Given the description of an element on the screen output the (x, y) to click on. 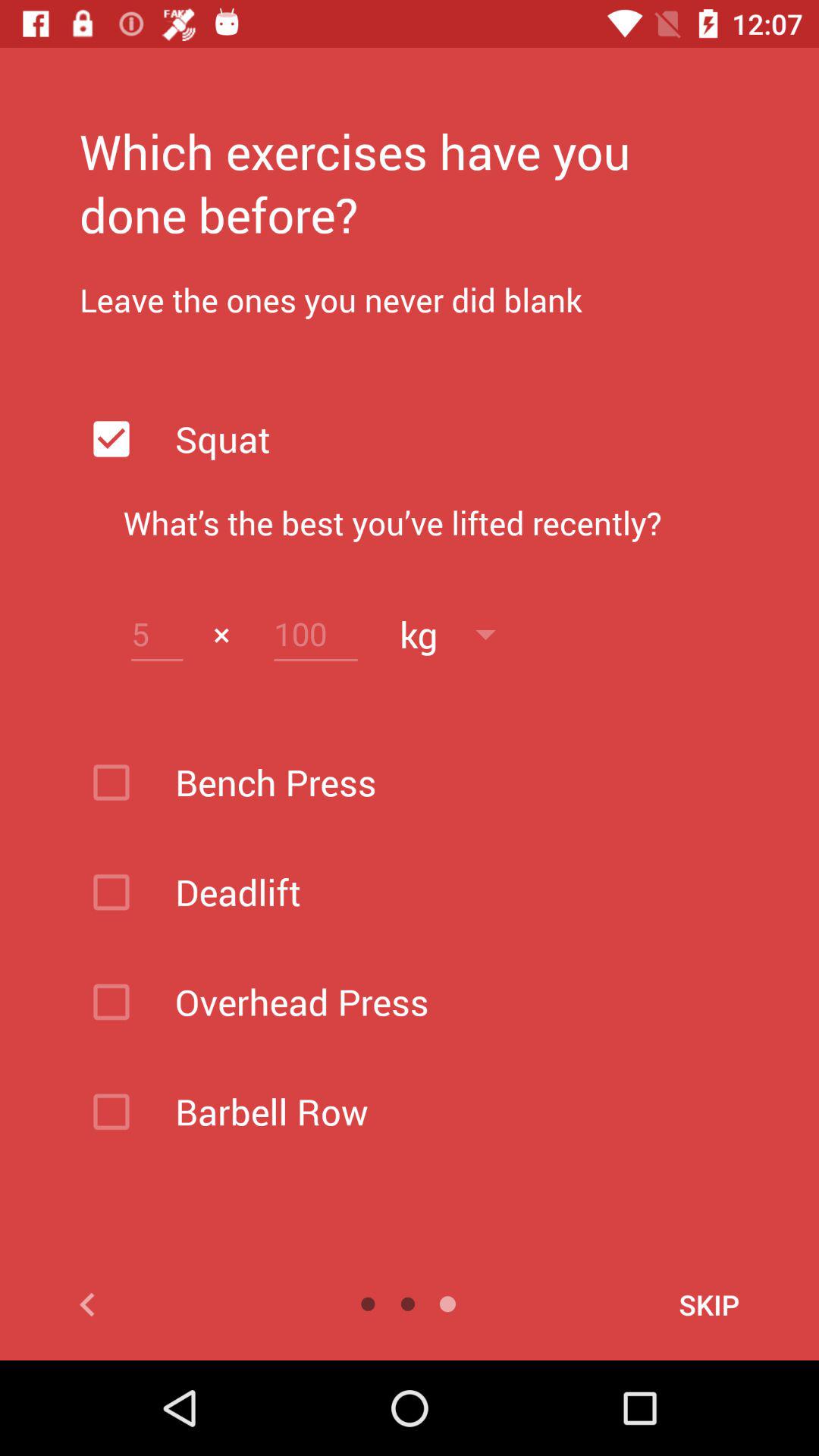
click on barbell row below overhead press (449, 1111)
click on skip icon (658, 1304)
click on overhead press (449, 1002)
select the text below bench press (449, 892)
